Given the description of an element on the screen output the (x, y) to click on. 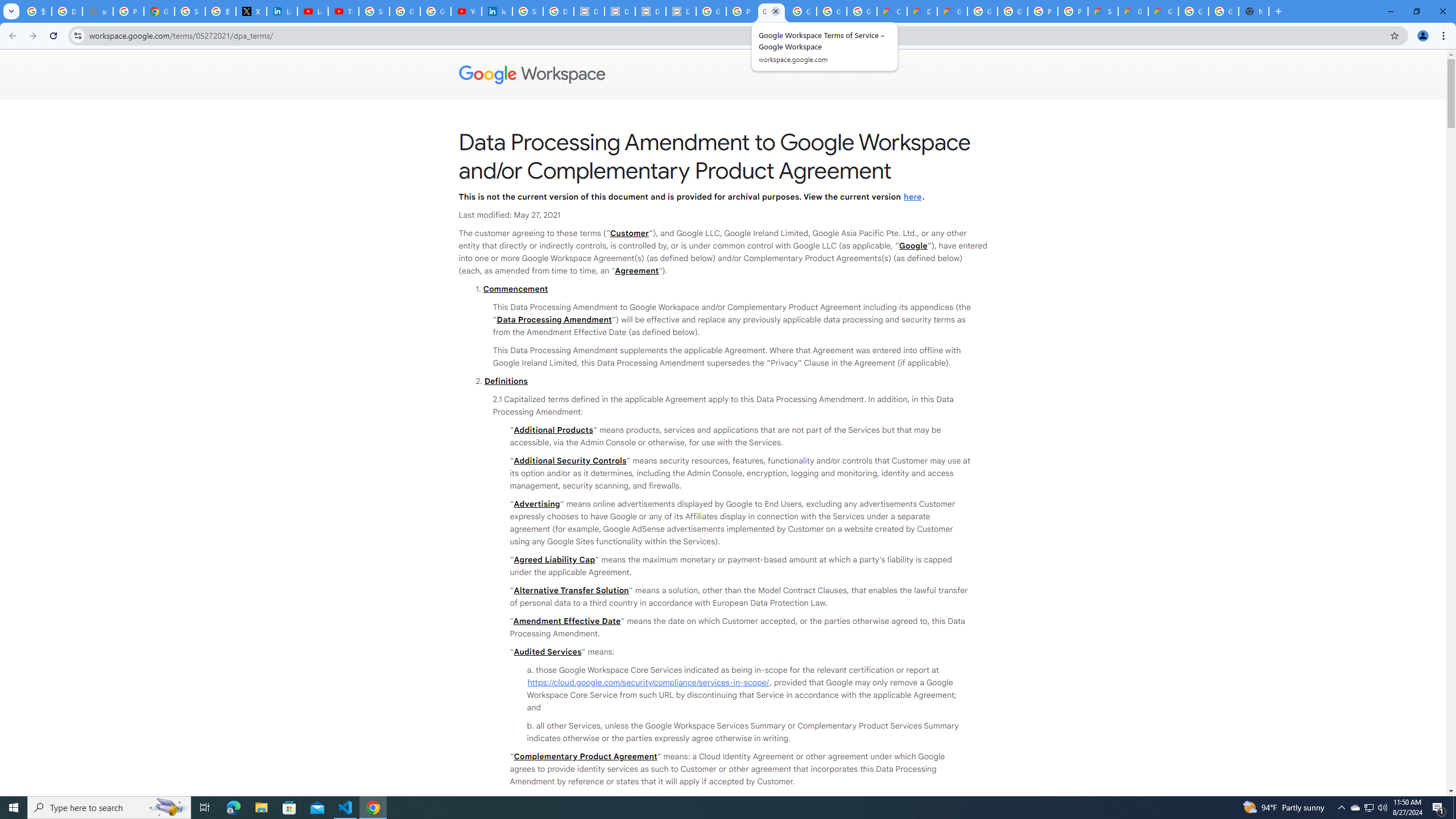
Sign in - Google Accounts (189, 11)
Data Privacy Framework (589, 11)
Sign in - Google Accounts (527, 11)
Data Privacy Framework (650, 11)
Google Cloud Service Health (1132, 11)
Google Workspace - Specific Terms (861, 11)
